Given the description of an element on the screen output the (x, y) to click on. 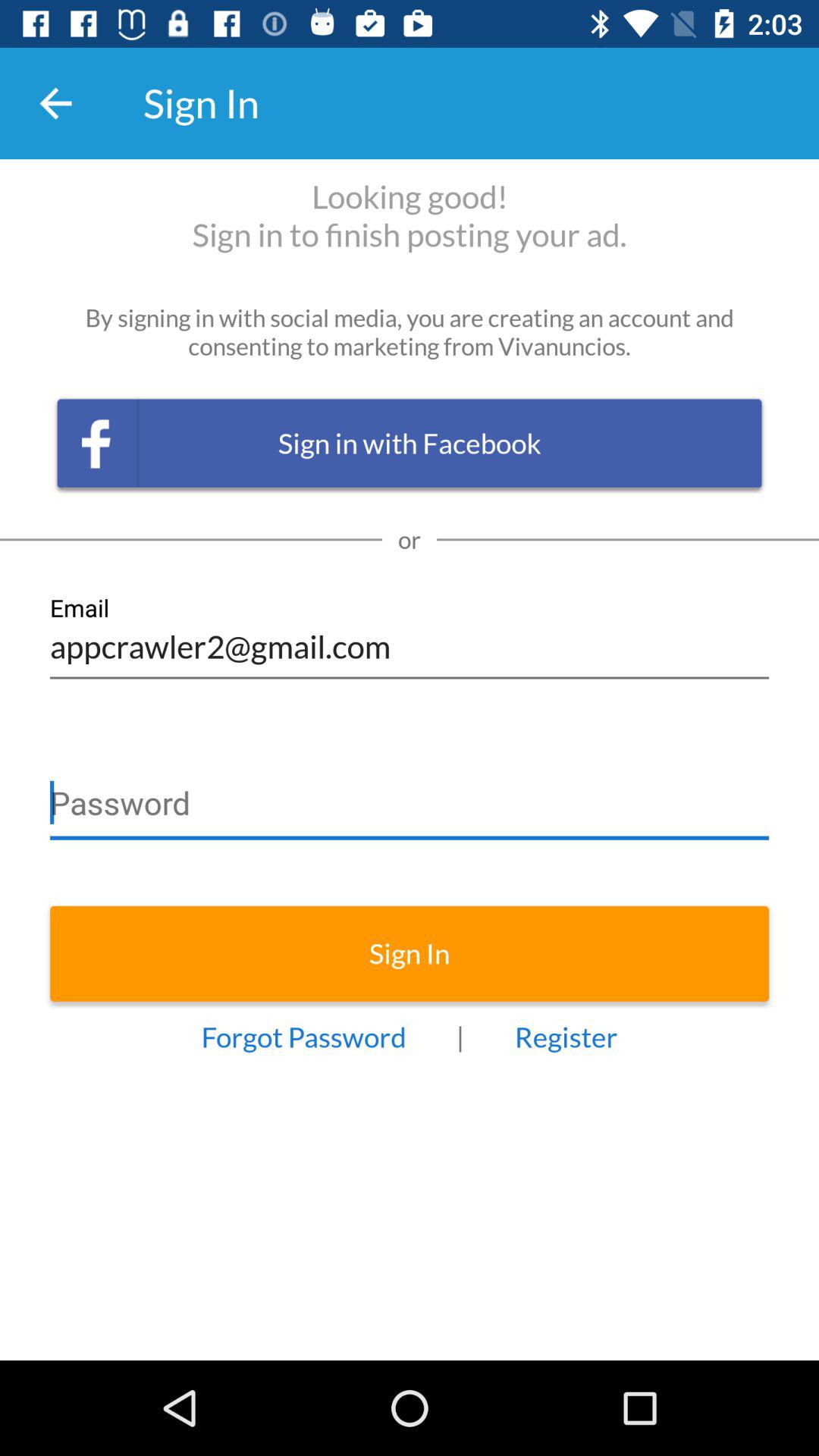
flip to register icon (565, 1036)
